Given the description of an element on the screen output the (x, y) to click on. 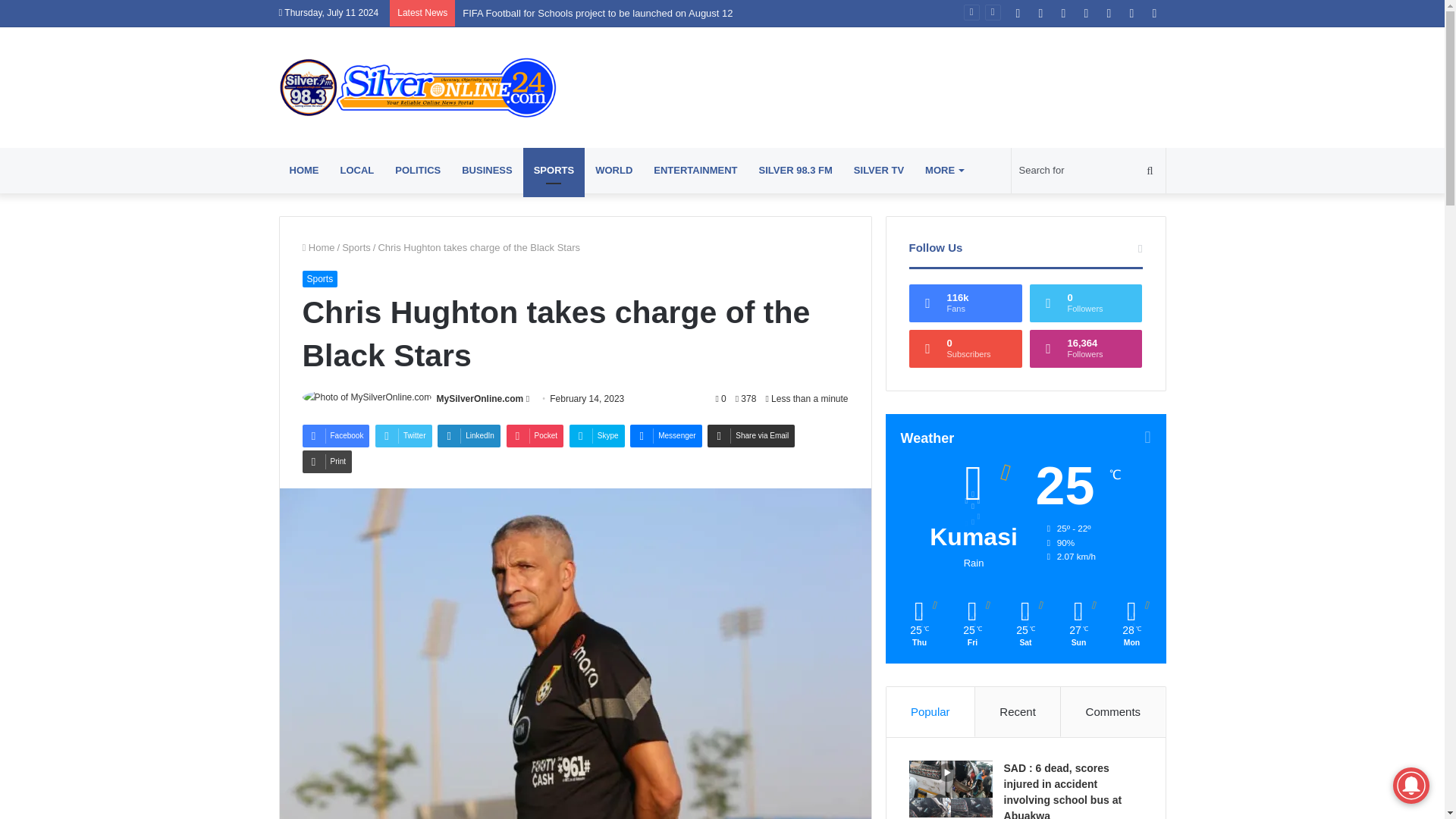
Messenger (665, 436)
Twitter (402, 436)
Pocket (535, 436)
POLITICS (417, 170)
Skype (596, 436)
SPORTS (553, 170)
MySilverOnline.com (419, 87)
MORE (944, 170)
SILVER TV (878, 170)
LOCAL (356, 170)
SILVER 98.3 FM (795, 170)
MySilverOnline.com (480, 398)
Twitter (402, 436)
LinkedIn (469, 436)
